Given the description of an element on the screen output the (x, y) to click on. 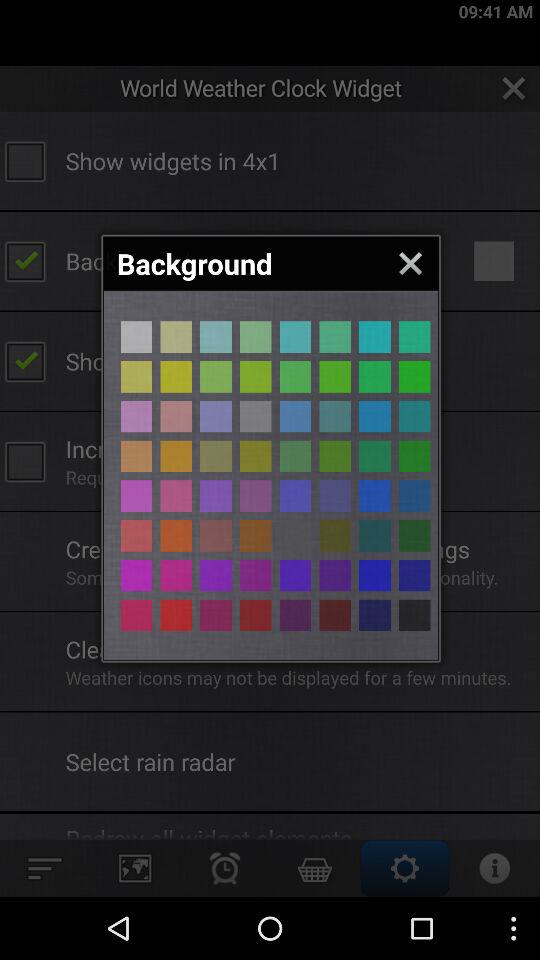
select color (295, 535)
